Given the description of an element on the screen output the (x, y) to click on. 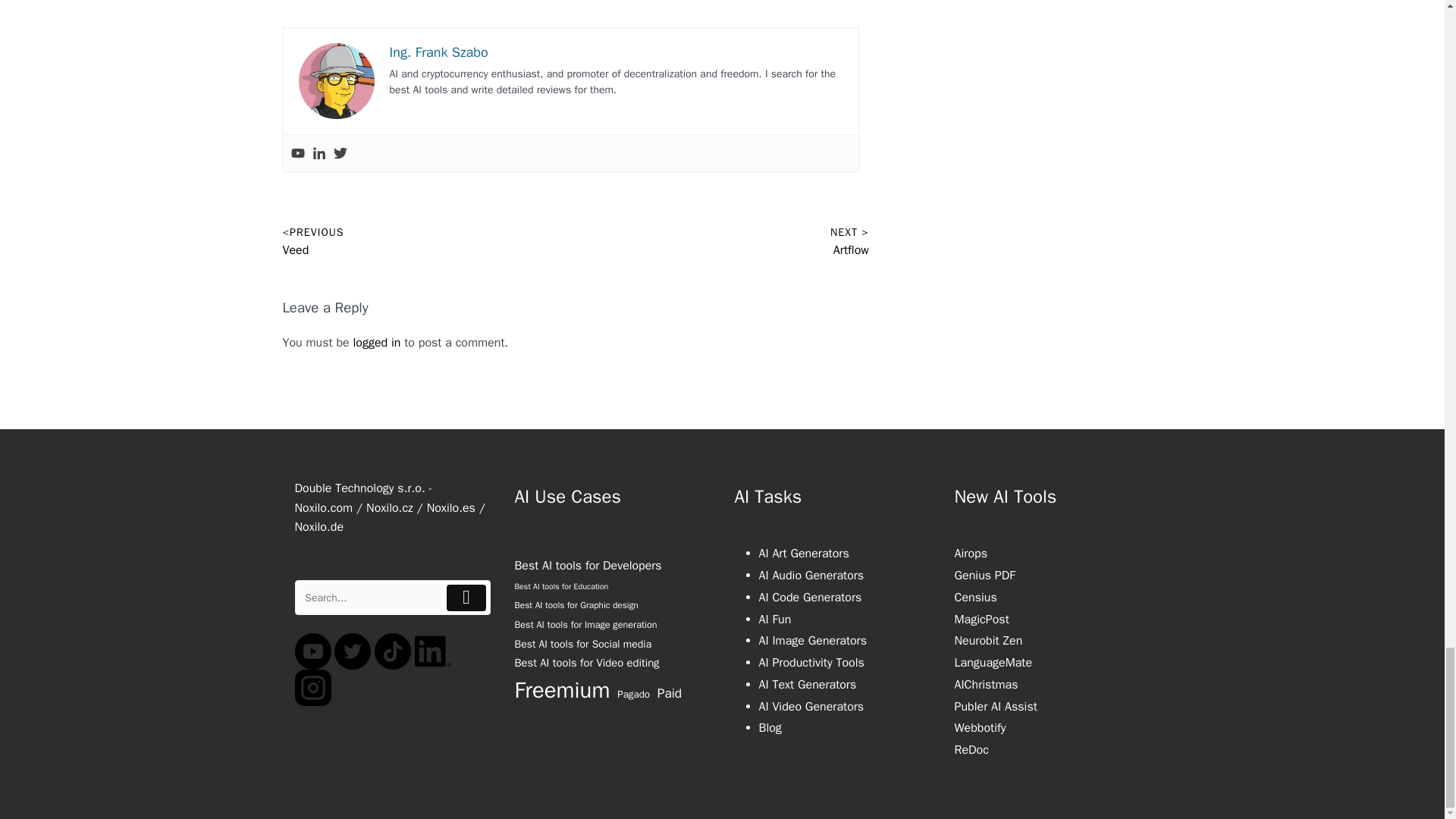
Youtube (297, 152)
Linkedin (319, 152)
Ing. Frank Szabo (438, 52)
Twitter (340, 152)
Search (369, 597)
